Given the description of an element on the screen output the (x, y) to click on. 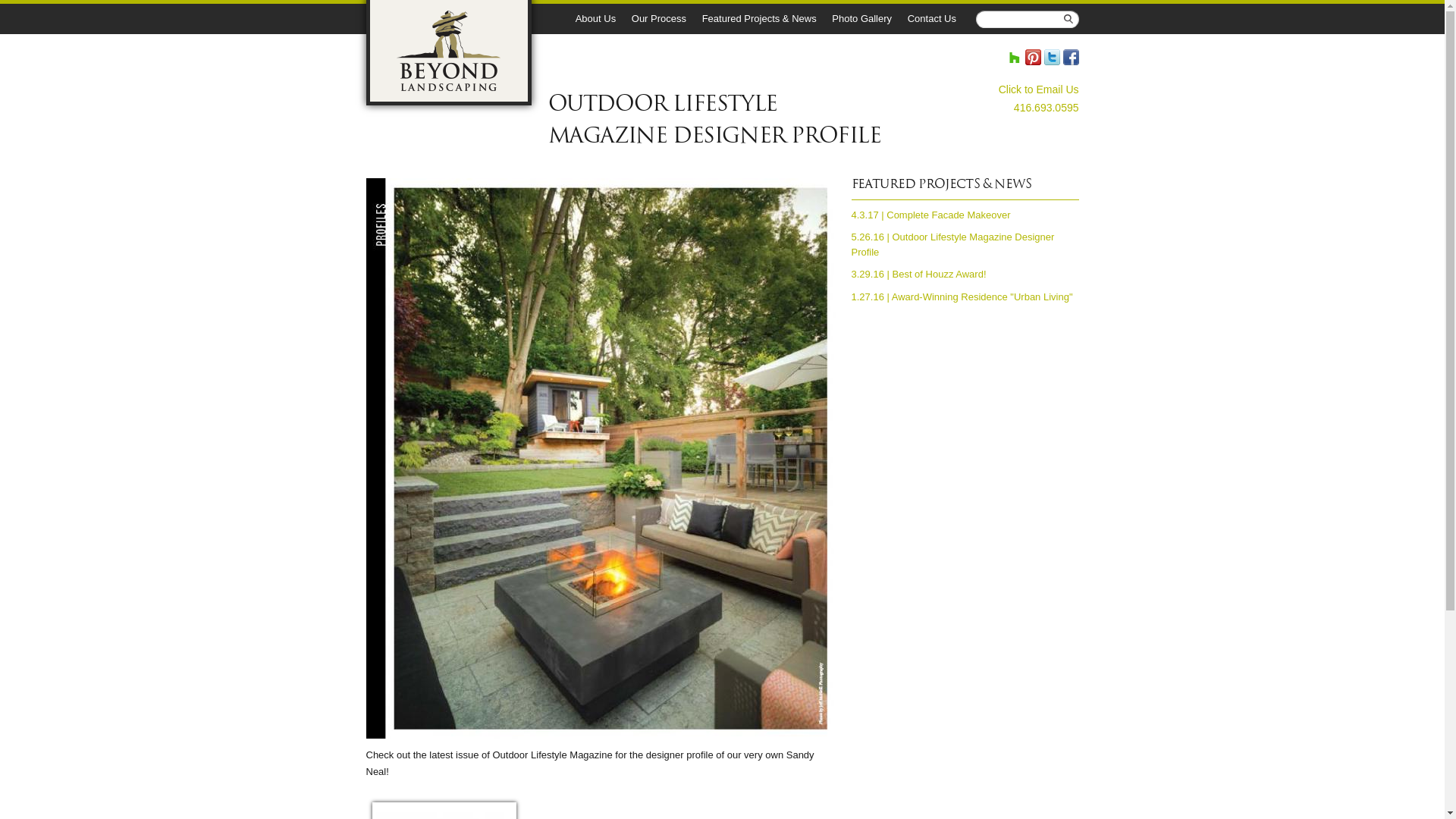
5.26.16 | Outdoor Lifestyle Magazine Designer Profile Element type: text (952, 244)
1.27.16 | Award-Winning Residence "Urban Living" Element type: text (961, 296)
Featured Projects & News Element type: text (760, 13)
Our Process Element type: text (660, 13)
Skip to main content Element type: text (694, 1)
416.693.0595 Element type: text (1046, 107)
Photo Gallery Element type: text (862, 13)
Click to Email Us Element type: text (1038, 89)
Contact Us Element type: text (933, 13)
Enter the terms you wish to search for. Element type: hover (1026, 19)
Search Element type: text (1101, 19)
4.3.17 | Complete Facade Makeover Element type: text (930, 214)
About Us Element type: text (596, 13)
3.29.16 | Best of Houzz Award! Element type: text (917, 273)
